Given the description of an element on the screen output the (x, y) to click on. 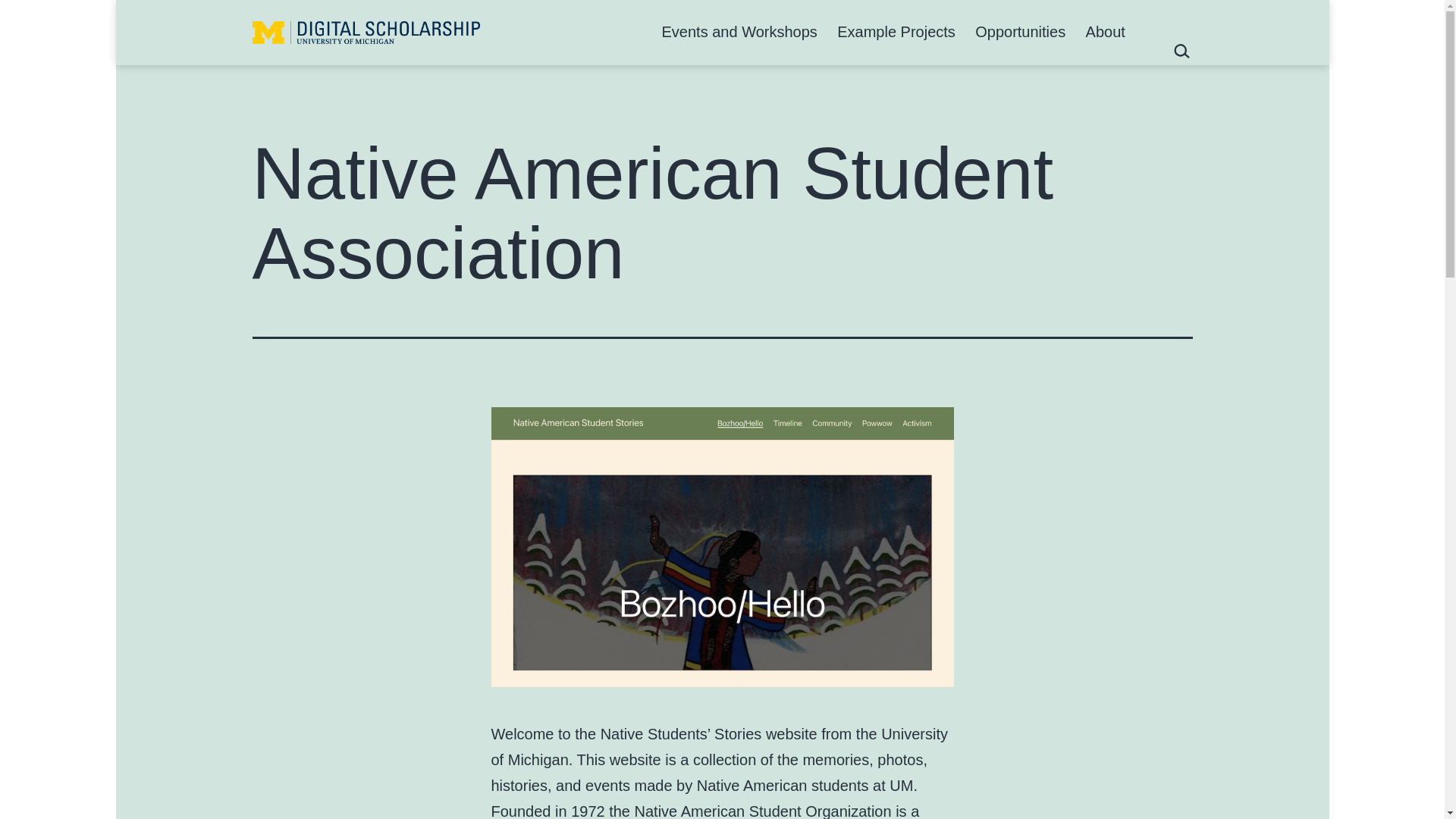
Events and Workshops (738, 31)
About (1105, 31)
Opportunities (1020, 31)
Example Projects (896, 31)
